Given the description of an element on the screen output the (x, y) to click on. 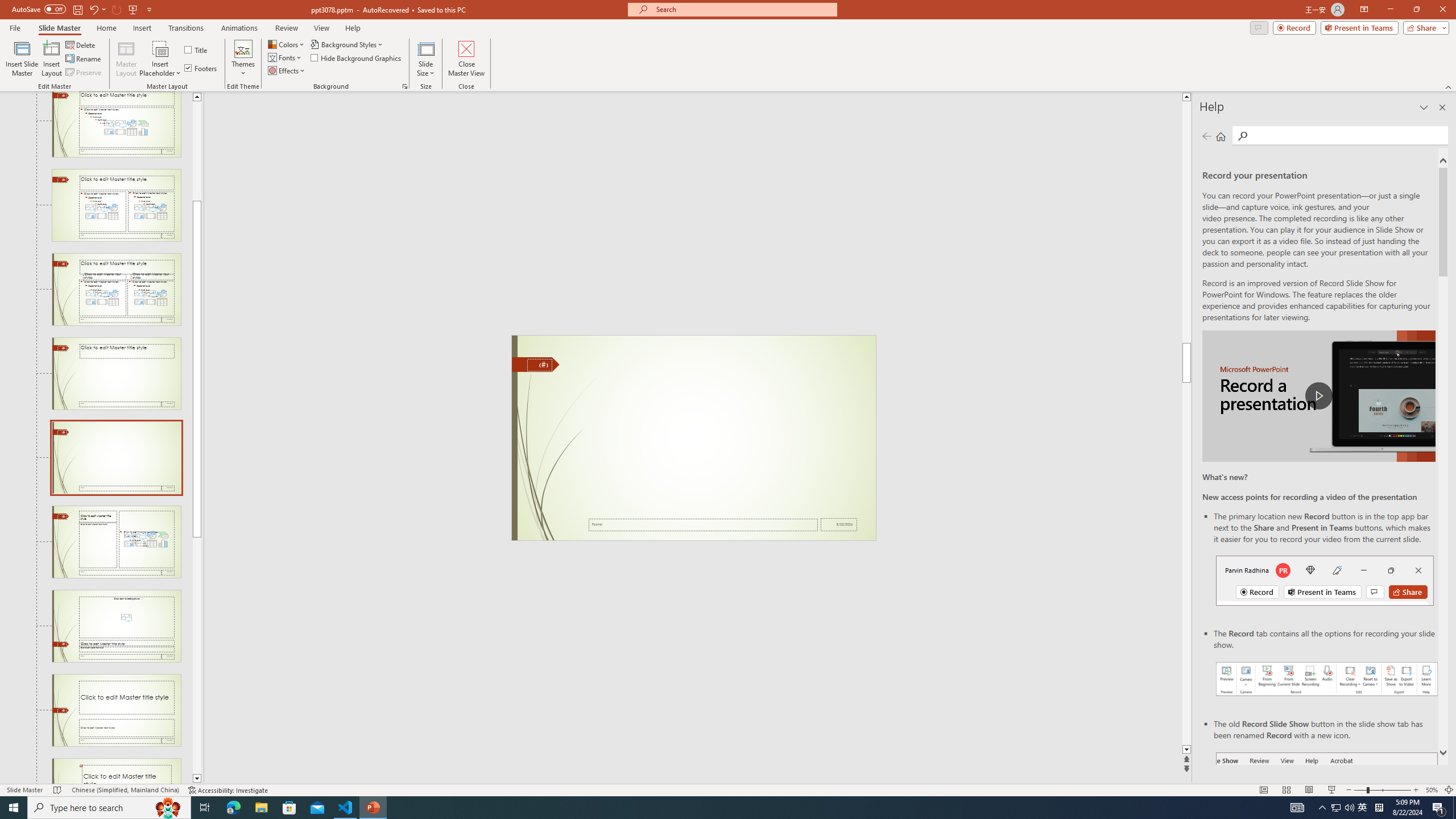
Fonts (285, 56)
Record your presentations screenshot one (1326, 678)
Footer (703, 524)
Hide Background Graphics (356, 56)
Slide Master (59, 28)
Close Master View (466, 58)
